Given the description of an element on the screen output the (x, y) to click on. 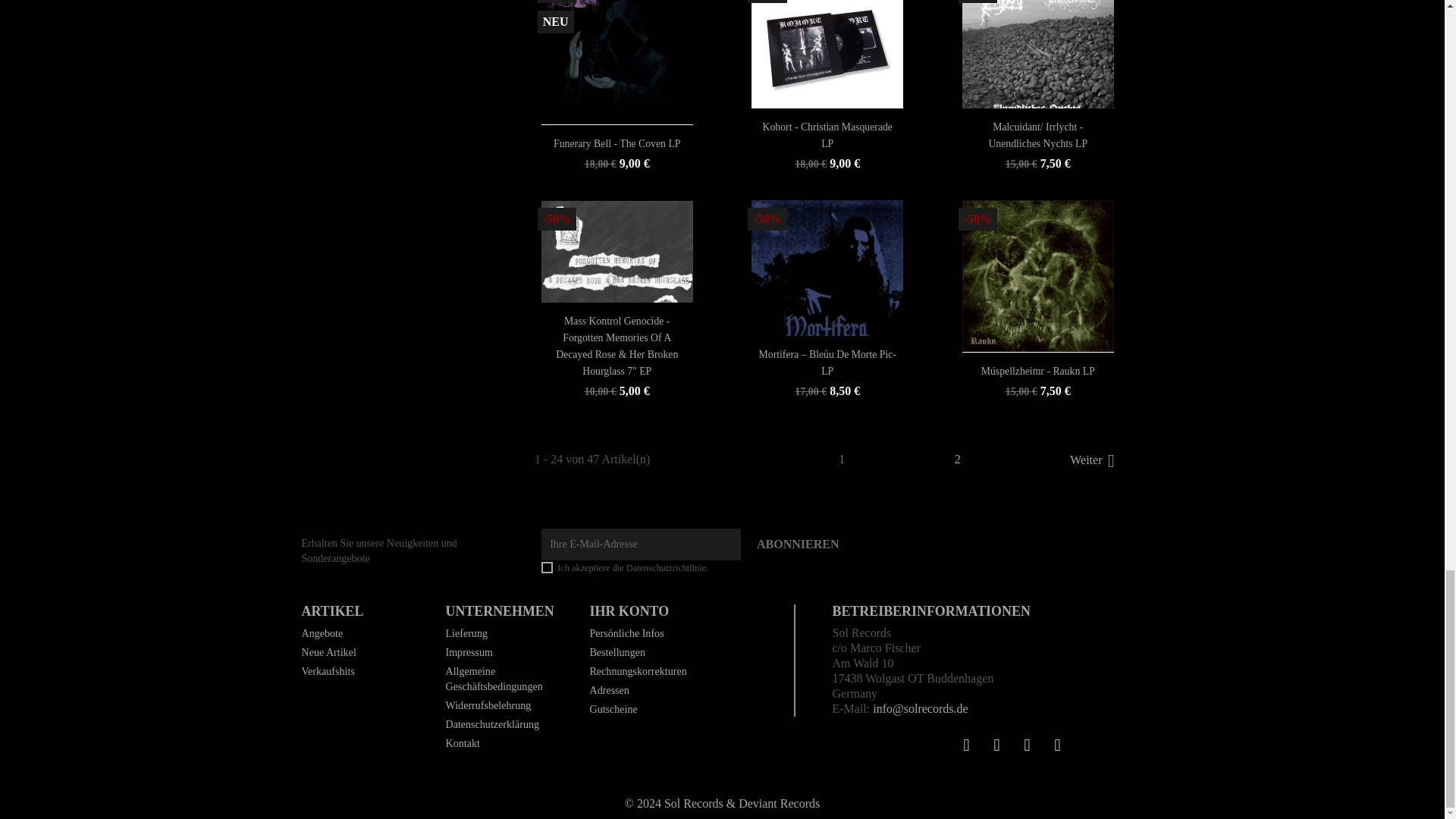
Nutzen Sie unser Kontaktformular (462, 743)
Rechnungskorrekturen (637, 671)
Impressum (469, 652)
Bestellungen (617, 652)
Unsere AGB (493, 678)
Neue Artikel (328, 652)
Widerrufsbelehrung (488, 705)
Verkaufshits (328, 671)
Gutscheine (613, 708)
Adressen (608, 689)
